Given the description of an element on the screen output the (x, y) to click on. 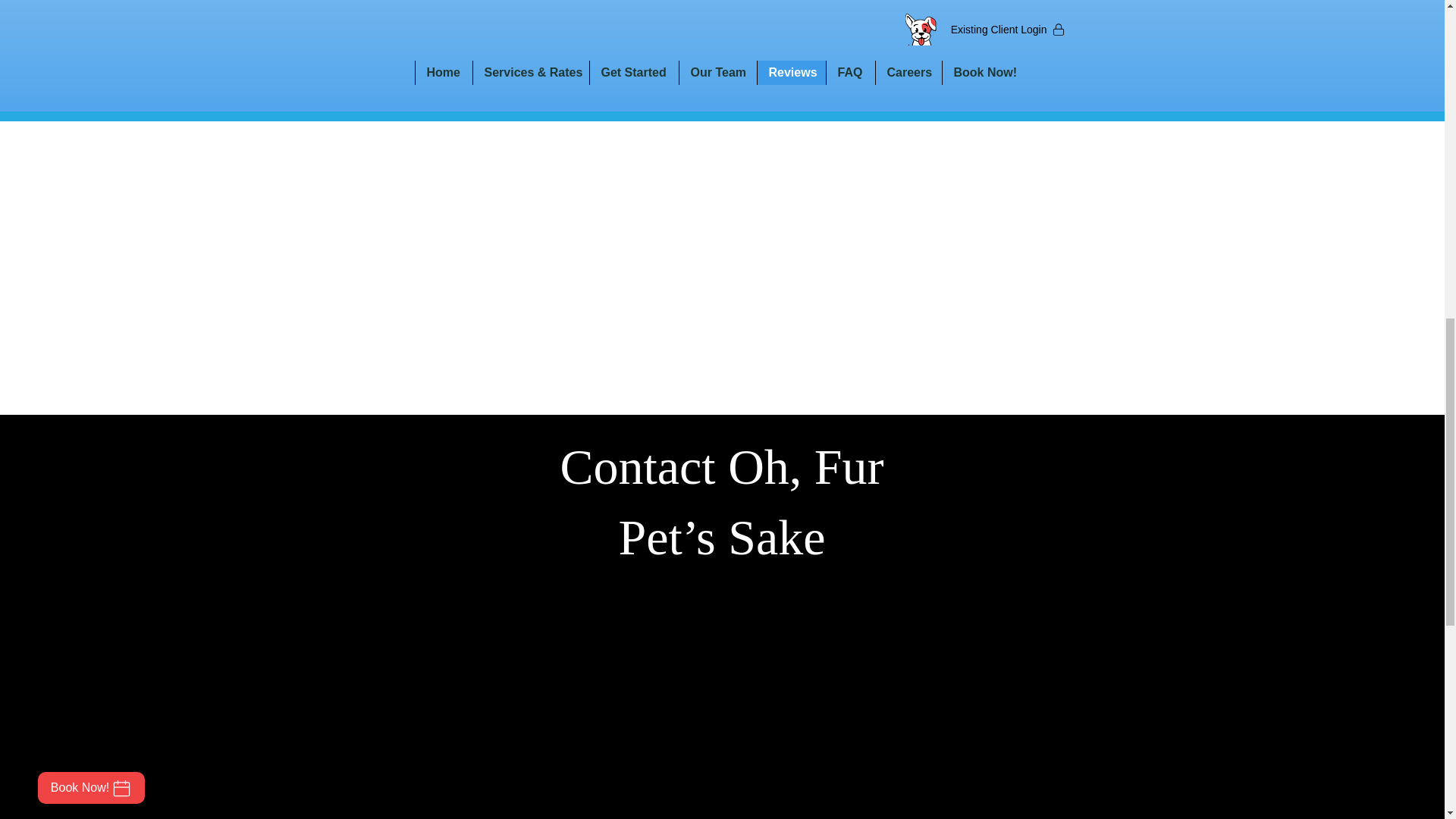
763-200-1990 (721, 56)
Instagram (937, 56)
Facebook (865, 56)
